Given the description of an element on the screen output the (x, y) to click on. 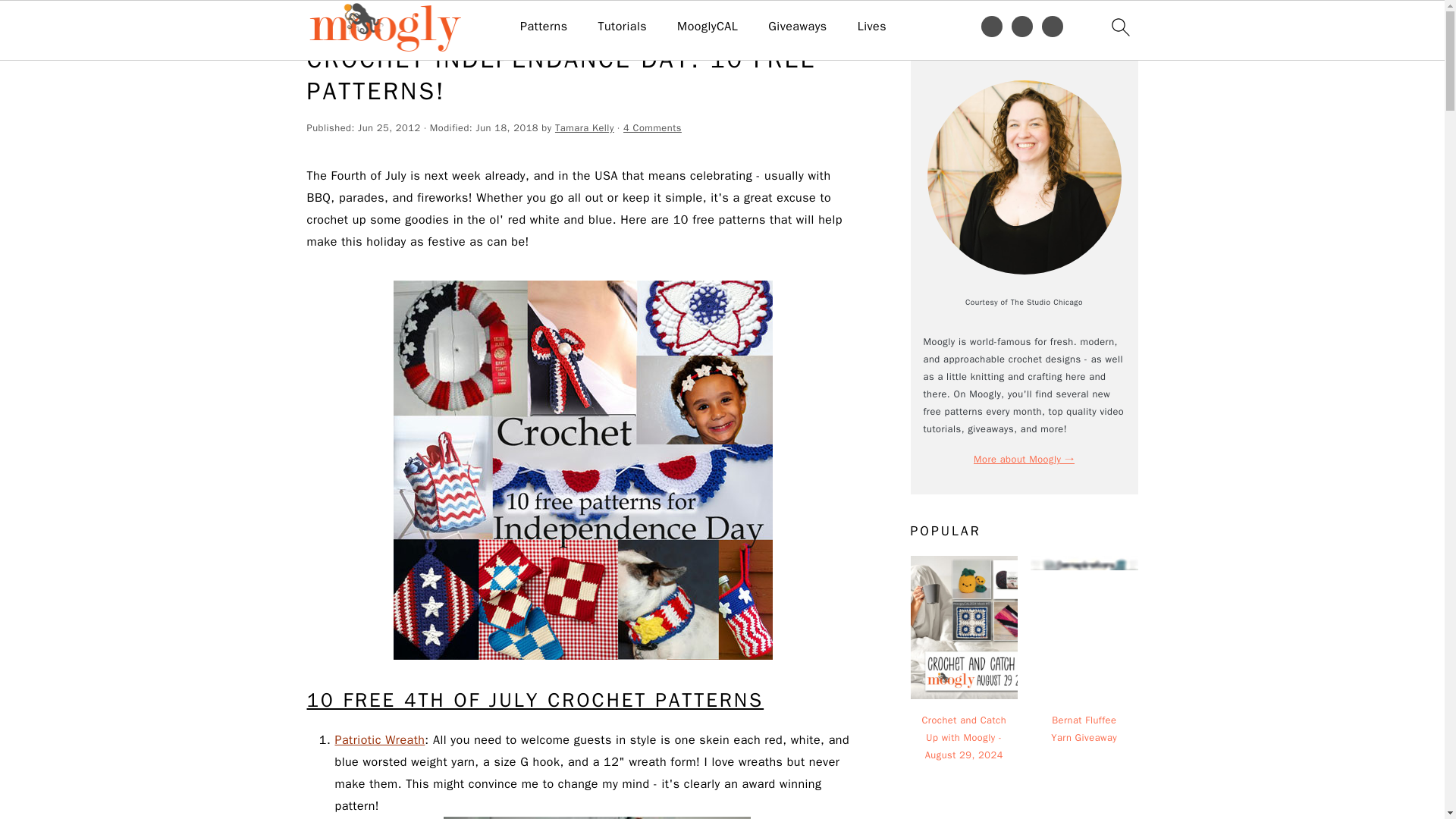
MooglyCAL (707, 26)
Giveaways (797, 26)
Patterns (543, 26)
Patriotic Wreath Free Pattern (379, 739)
Free Pattern Roundup (393, 23)
search icon (1119, 26)
Tutorials (621, 26)
Tamara Kelly (584, 128)
